Given the description of an element on the screen output the (x, y) to click on. 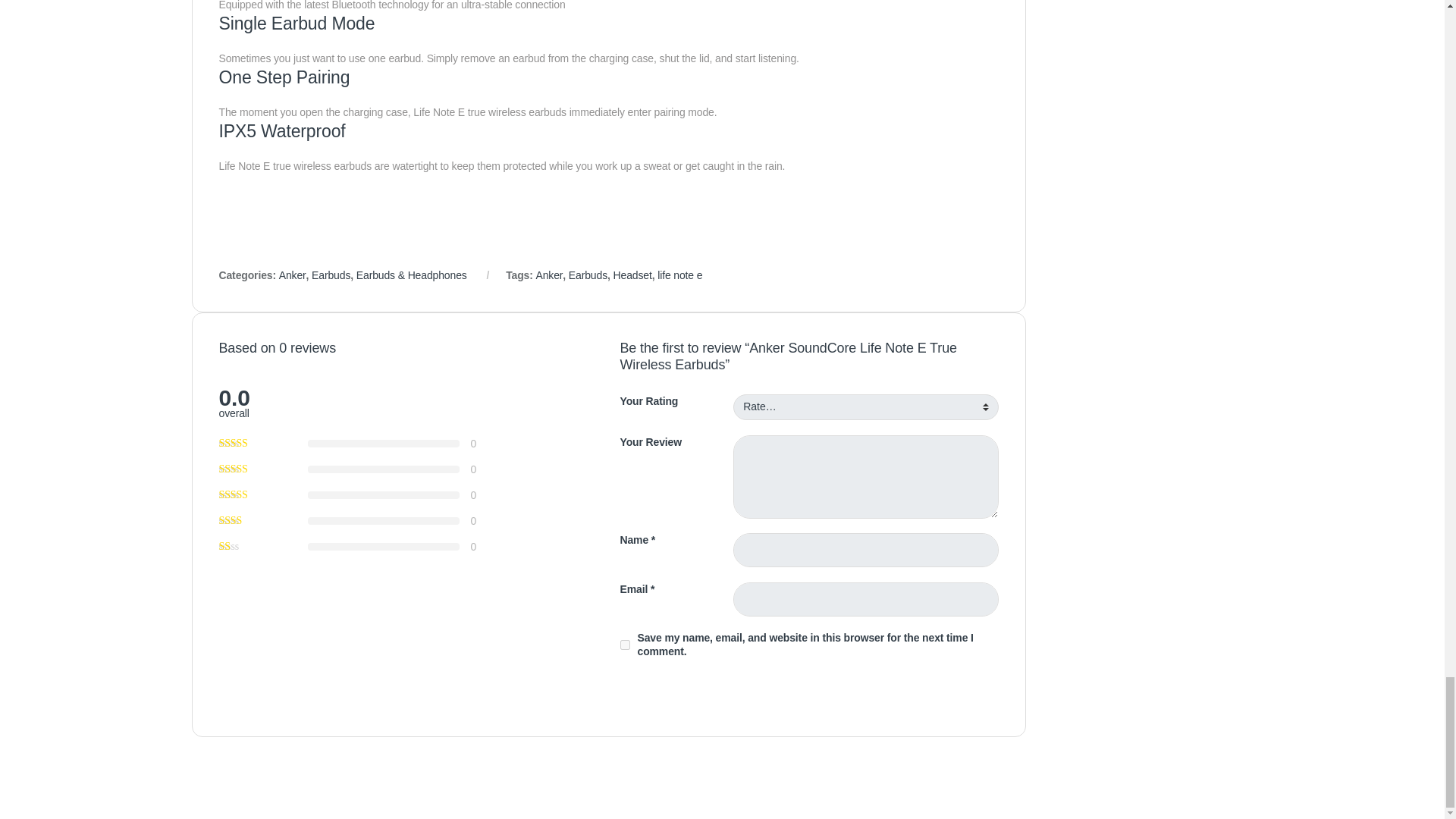
yes (625, 644)
